Given the description of an element on the screen output the (x, y) to click on. 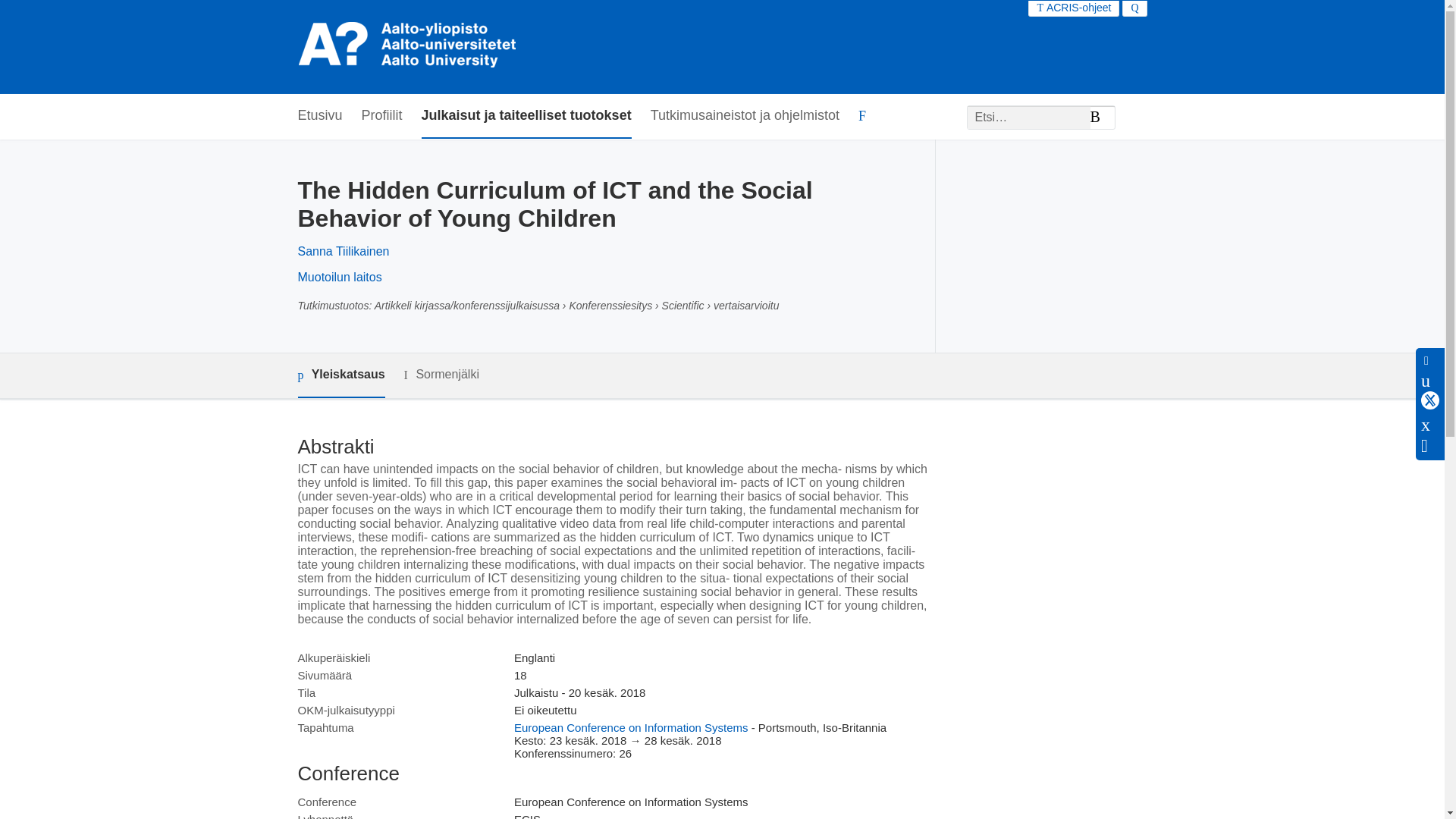
Julkaisut ja taiteelliset tuotokset (526, 116)
Etusivu (319, 116)
Profiilit (382, 116)
Muotoilun laitos (339, 277)
Aalto-yliopiston tutkimusportaaliin Etusivu (409, 46)
European Conference on Information Systems (630, 727)
ACRIS-ohjeet (1073, 7)
Yleiskatsaus (340, 375)
Tutkimusaineistot ja ohjelmistot (745, 116)
Sanna Tiilikainen (342, 250)
